Given the description of an element on the screen output the (x, y) to click on. 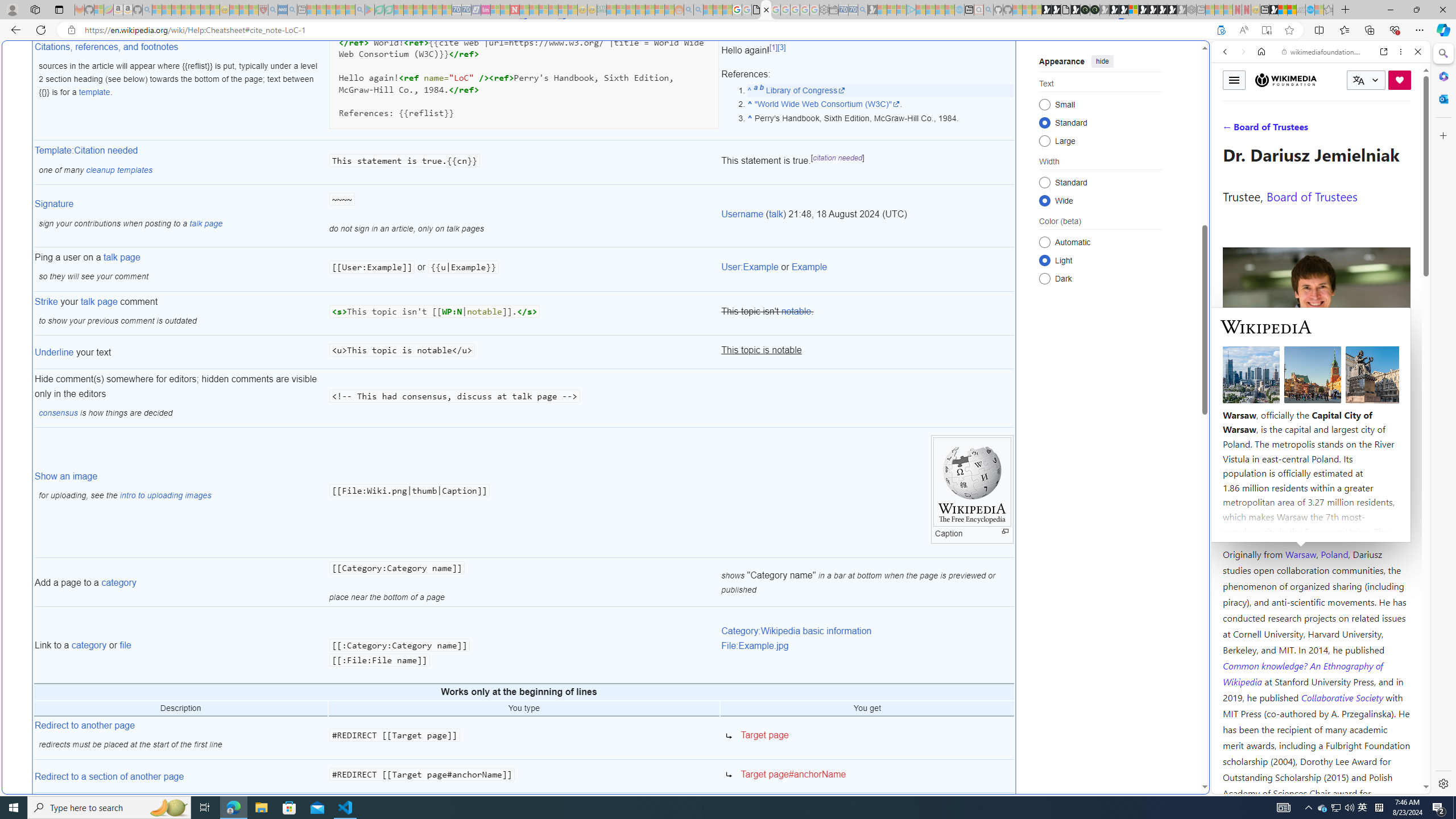
Harvard University (1259, 526)
~~~~ do not sign in an article, only on talk pages (523, 215)
